Given the description of an element on the screen output the (x, y) to click on. 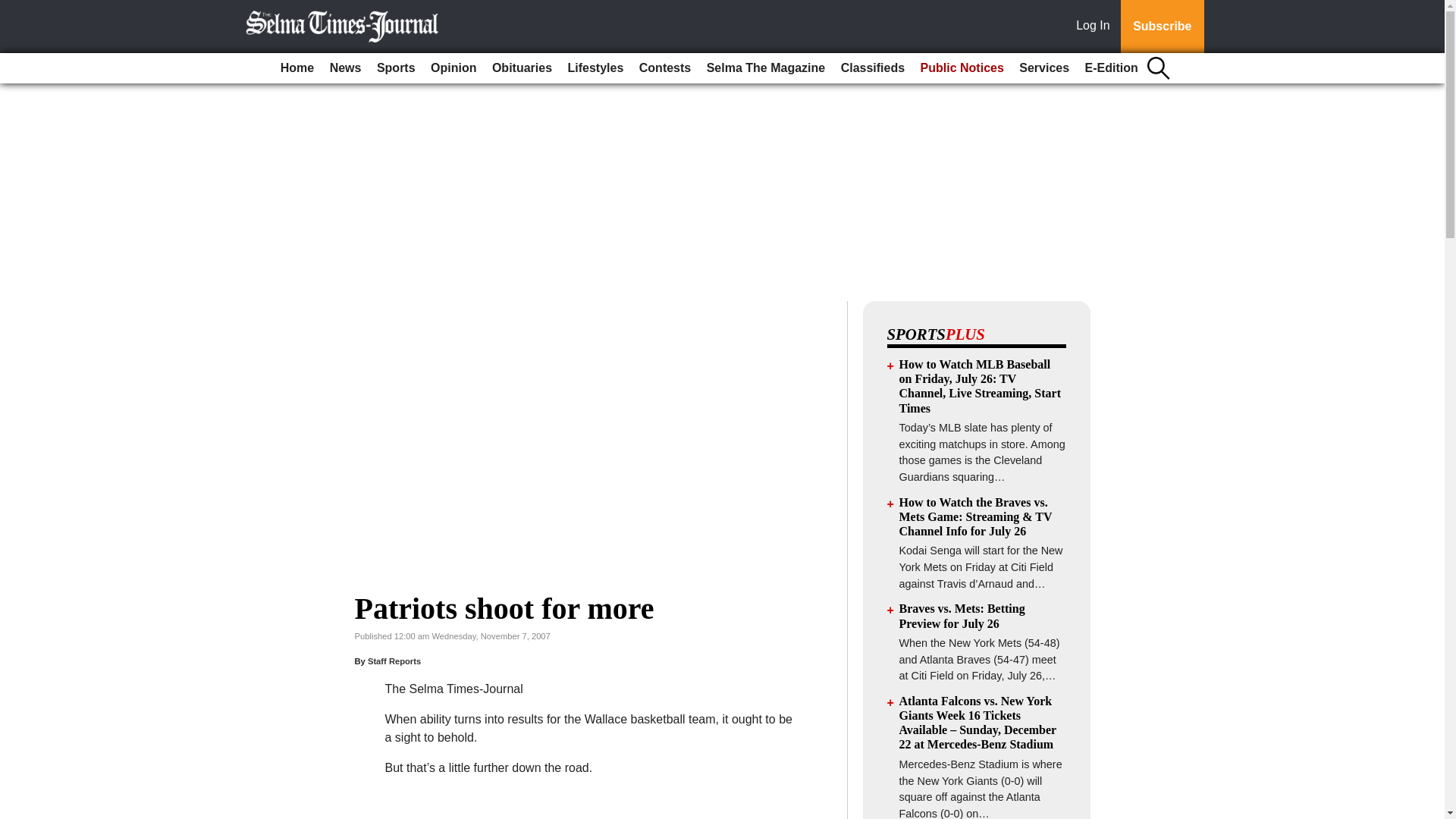
Go (13, 9)
Services (1044, 68)
Classifieds (872, 68)
Public Notices (962, 68)
News (345, 68)
Braves vs. Mets: Betting Preview for July 26 (962, 615)
Subscribe (1162, 26)
Opinion (453, 68)
E-Edition (1111, 68)
Obituaries (521, 68)
Staff Reports (394, 660)
Selma The Magazine (765, 68)
Lifestyles (596, 68)
Contests (665, 68)
